Given the description of an element on the screen output the (x, y) to click on. 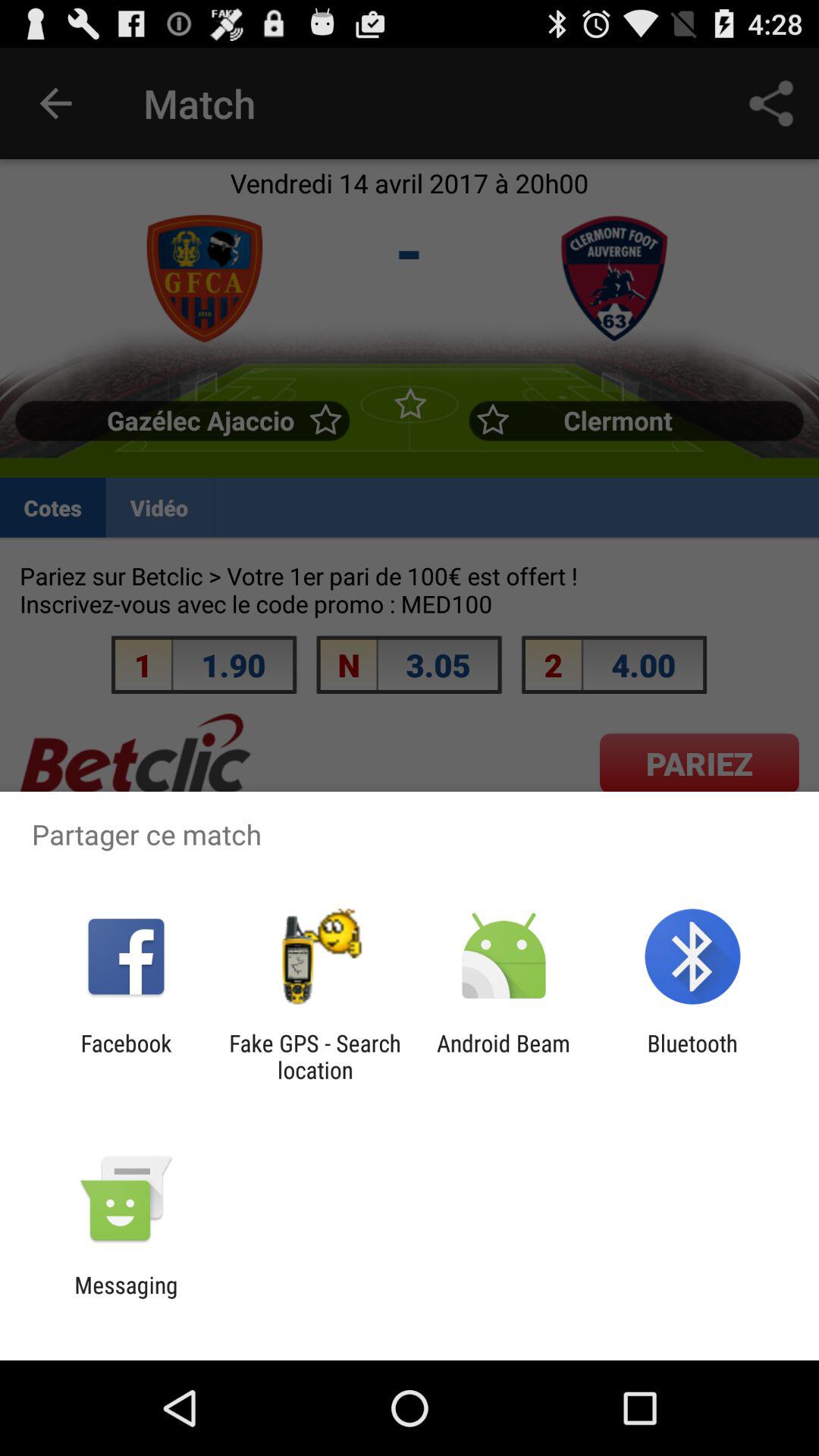
turn off the icon next to fake gps search (125, 1056)
